Given the description of an element on the screen output the (x, y) to click on. 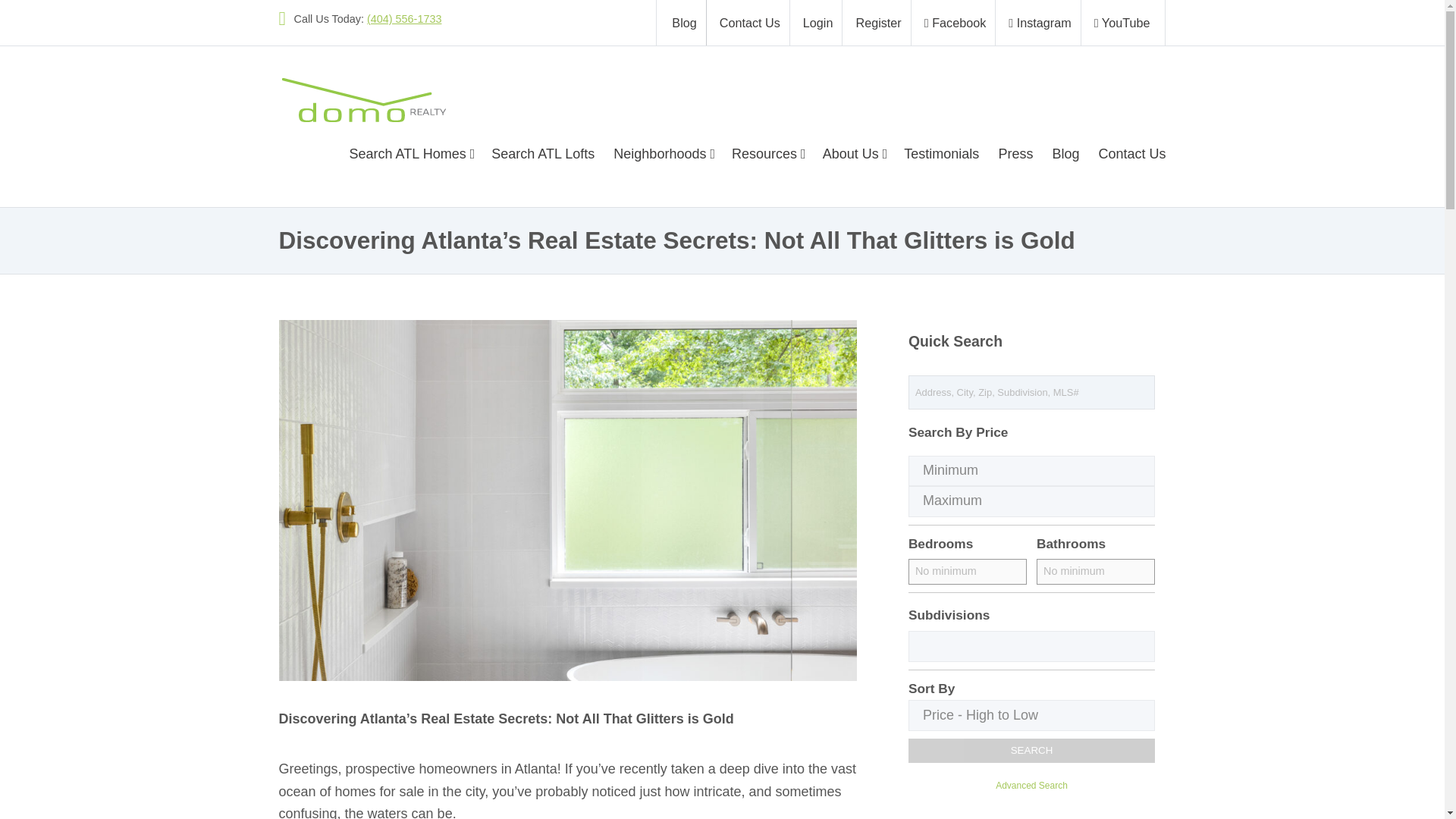
YouTube (1125, 22)
Search ATL Homes (414, 153)
Blog (681, 22)
Login (818, 22)
Facebook (955, 22)
Contact Us (750, 22)
Search ATL Lofts (542, 153)
Instagram (1039, 22)
Neighborhoods (662, 153)
Register (878, 22)
